Given the description of an element on the screen output the (x, y) to click on. 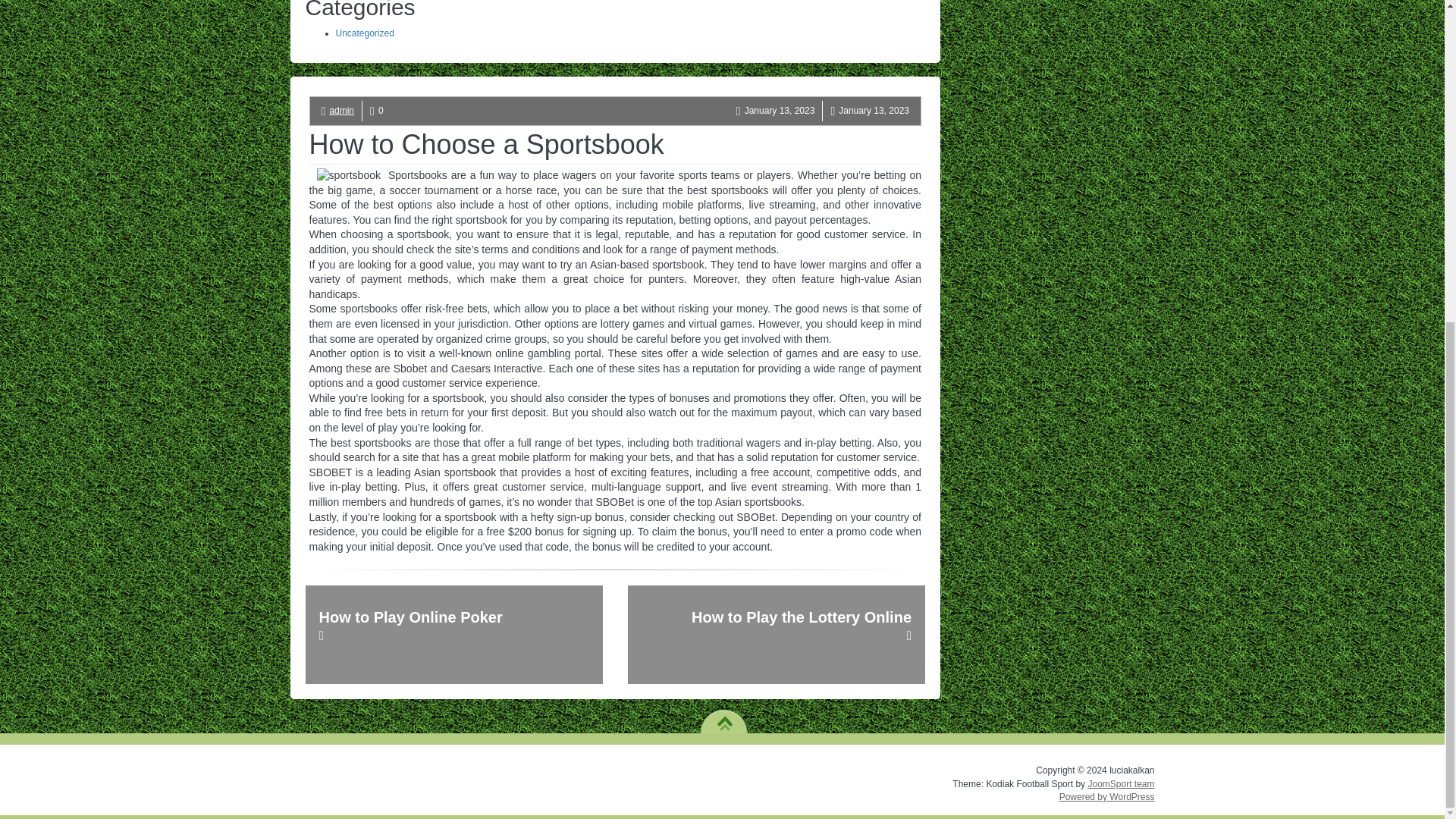
Uncategorized (363, 32)
 The Best WordPress Sport Plugin for your league and club  (1120, 783)
admin (341, 110)
How to Play the Lottery Online (775, 634)
How to Play Online Poker (453, 634)
